Given the description of an element on the screen output the (x, y) to click on. 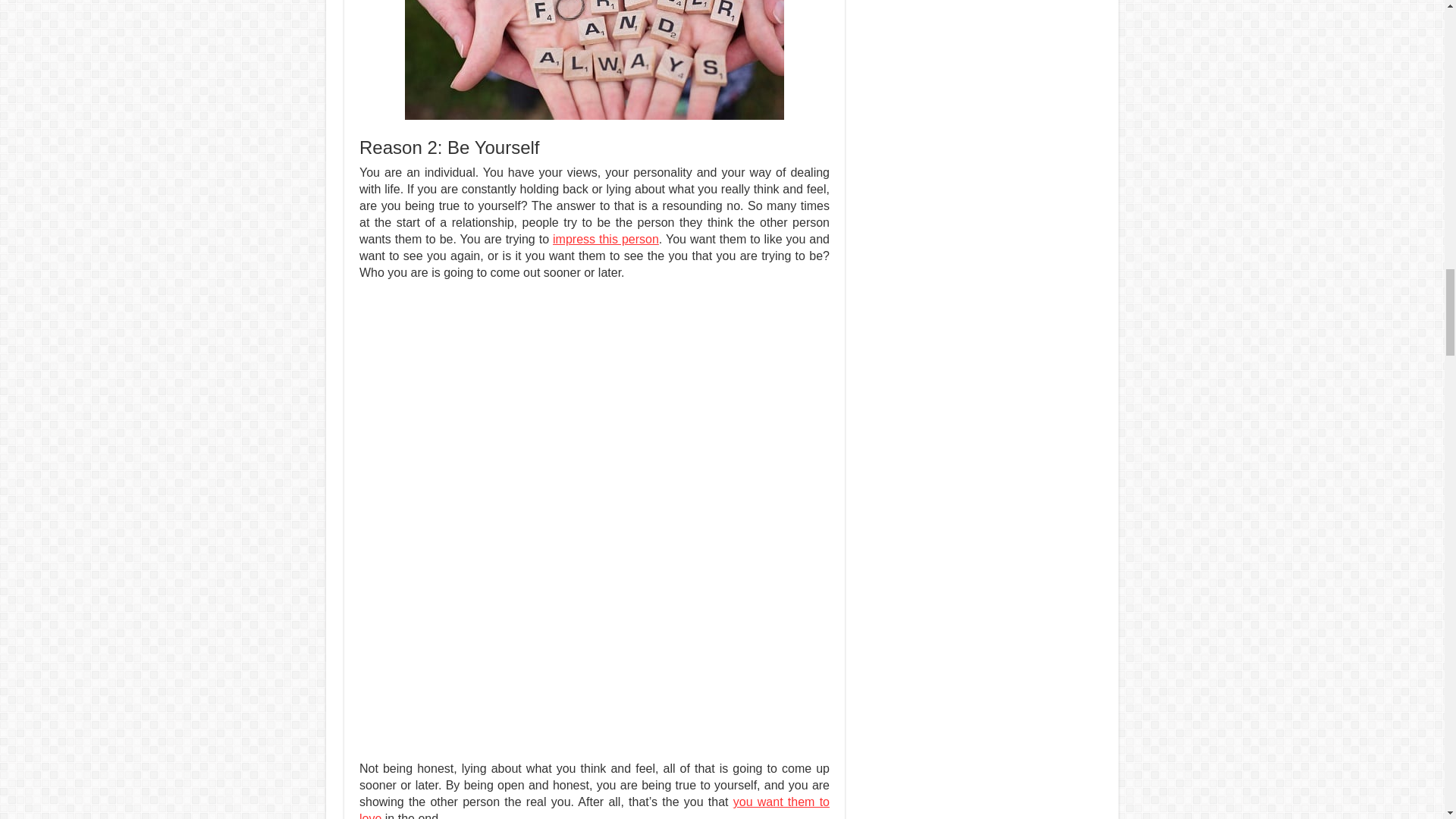
you want them to love (594, 807)
impress this person (606, 238)
